Given the description of an element on the screen output the (x, y) to click on. 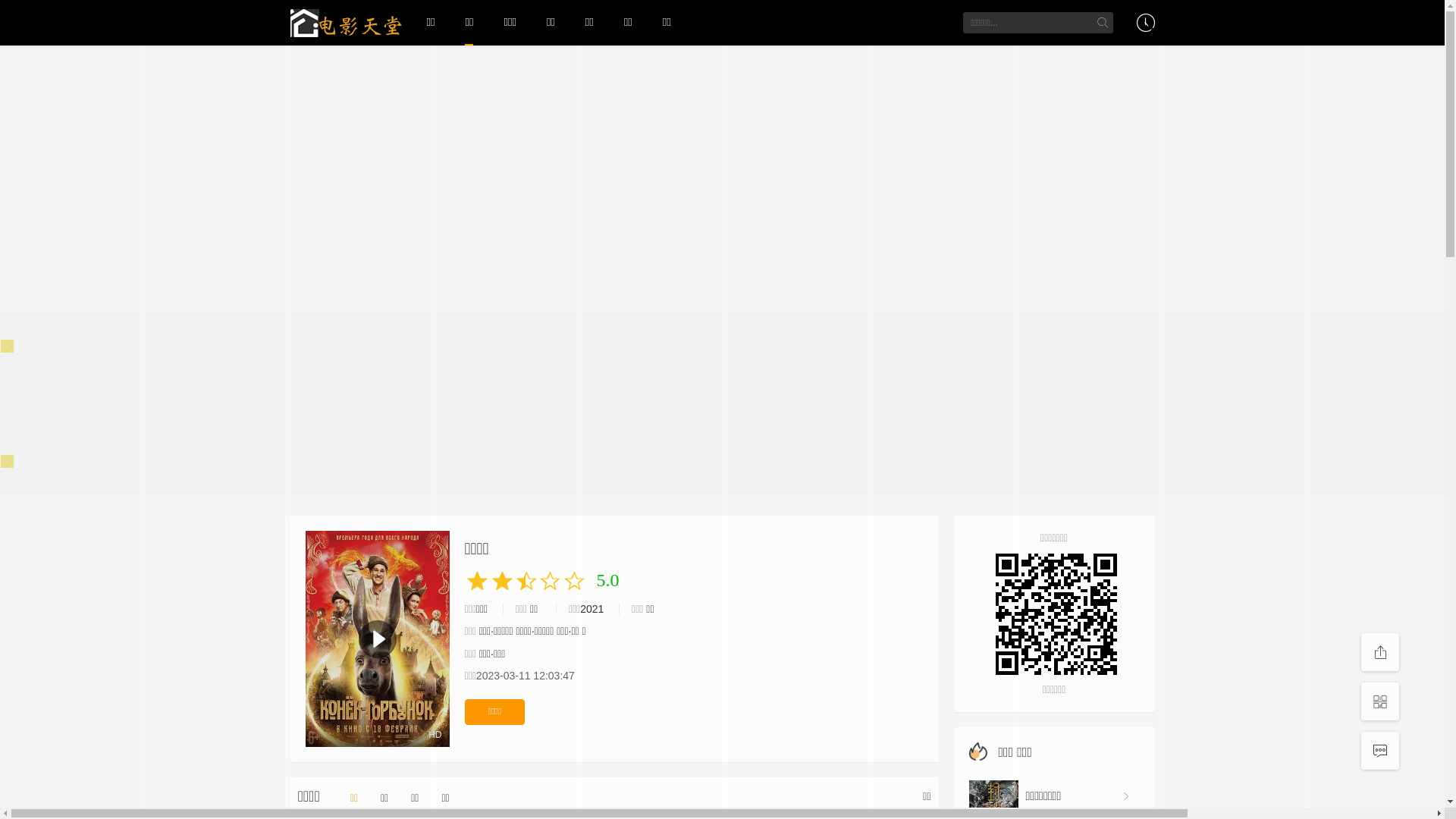
HD Element type: text (376, 638)
http://www.bebeco.cc/scbfgr/127190.html Element type: hover (1054, 613)
2021 Element type: text (591, 608)
